Given the description of an element on the screen output the (x, y) to click on. 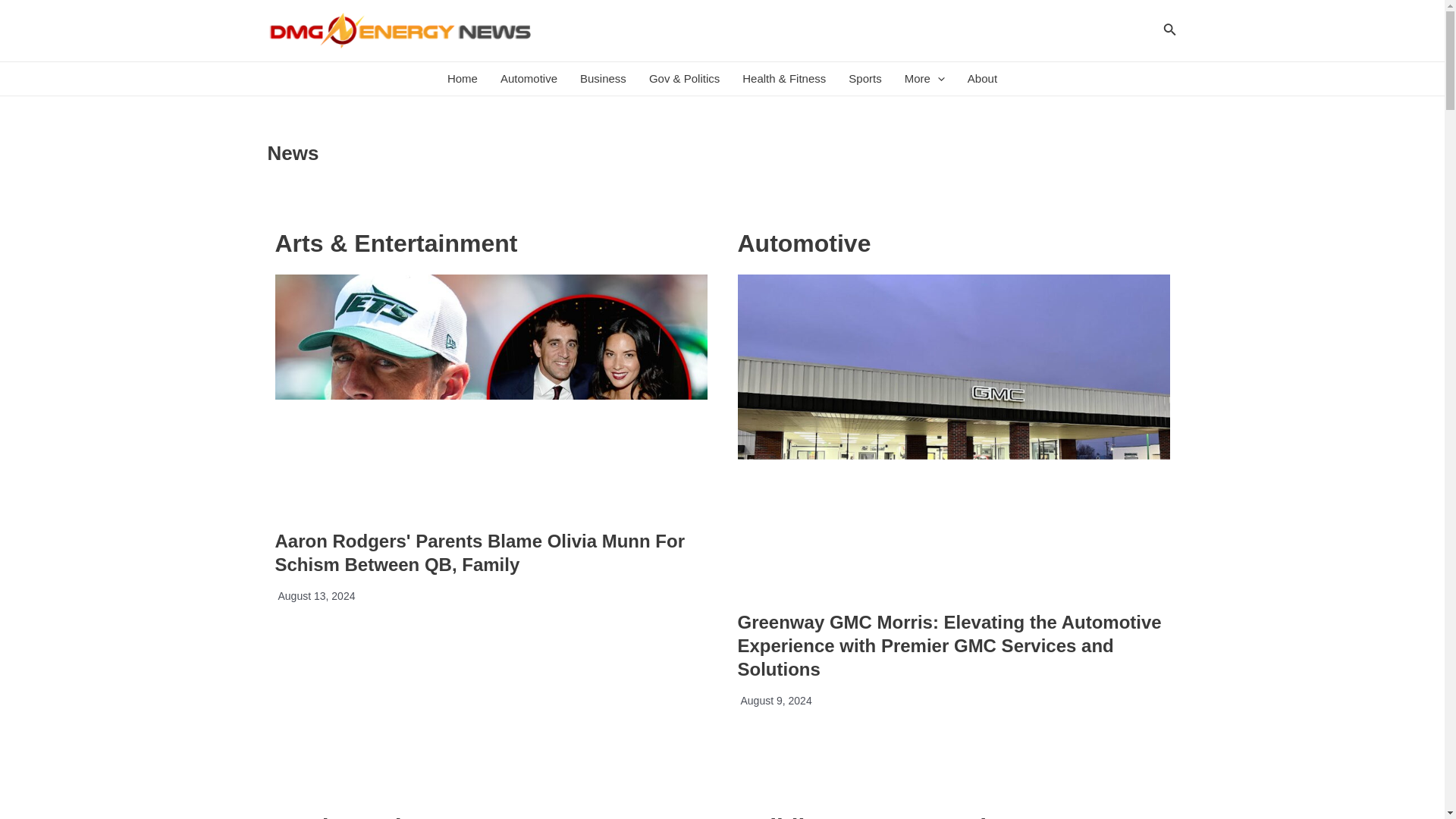
Home (462, 78)
Sports (864, 78)
Automotive (529, 78)
Business (603, 78)
More (924, 78)
About (982, 78)
